Given the description of an element on the screen output the (x, y) to click on. 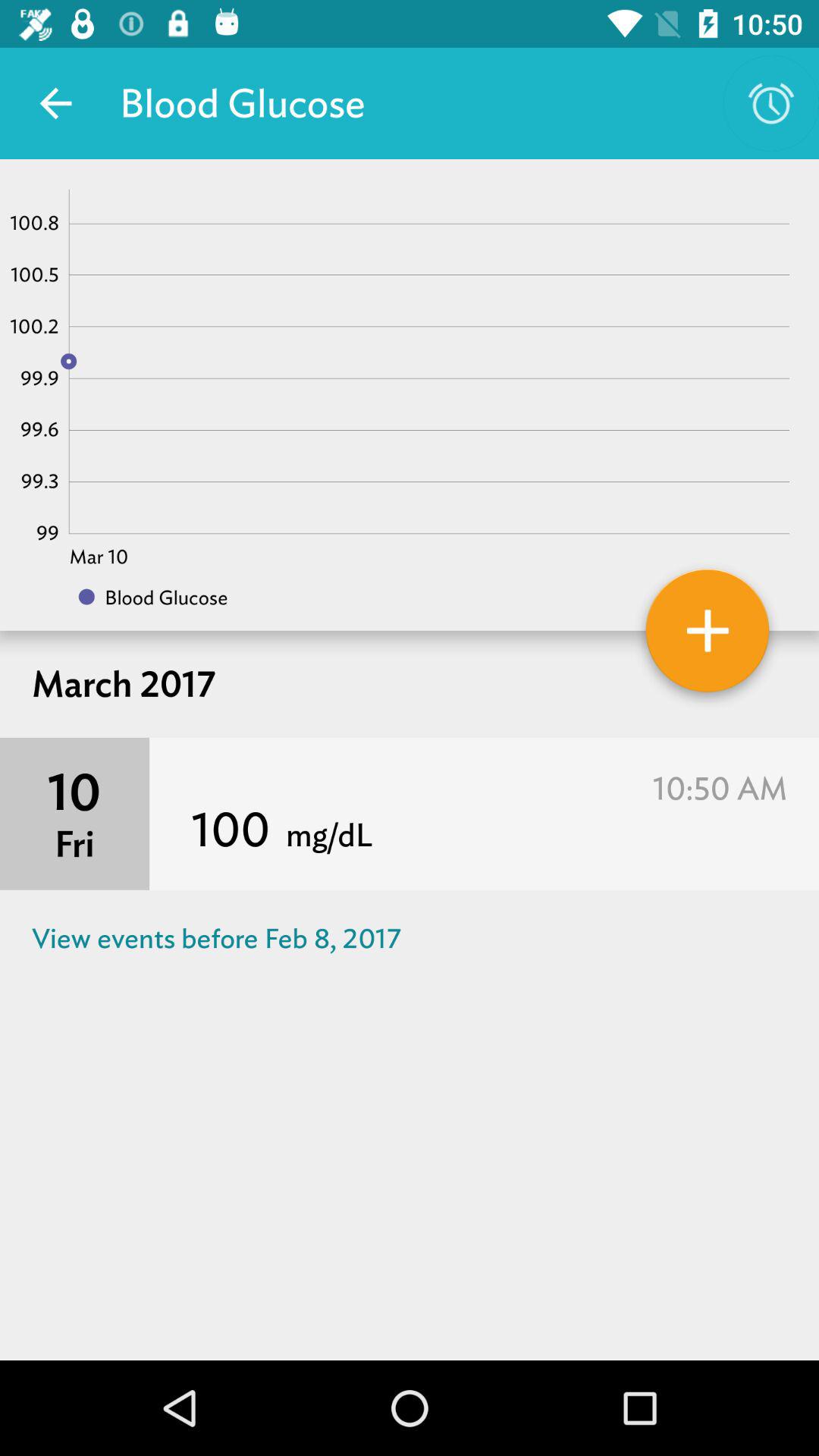
scroll to view events before icon (409, 938)
